Given the description of an element on the screen output the (x, y) to click on. 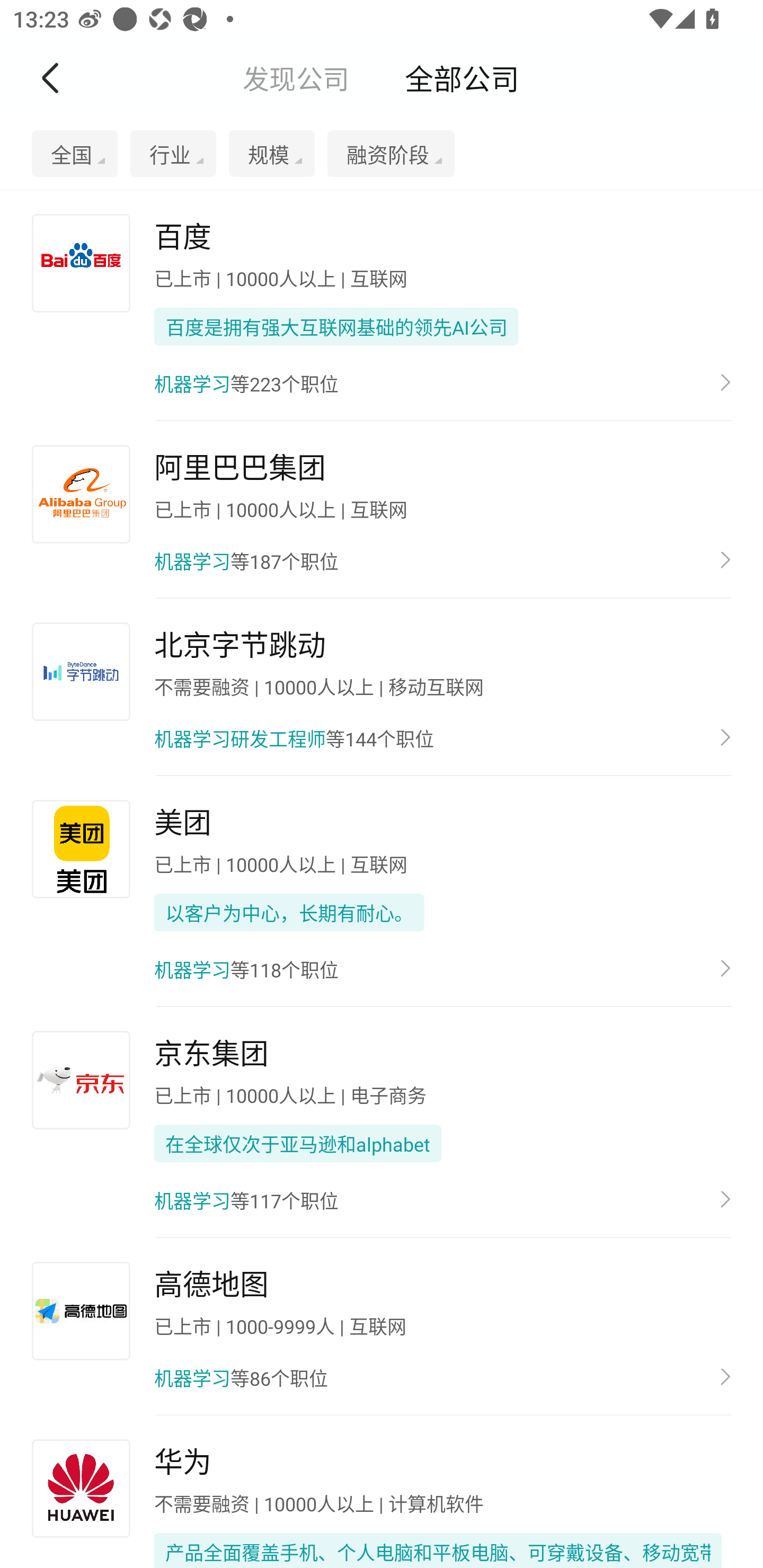
全部公司 (461, 77)
发现公司 (296, 77)
全国 (74, 153)
行业 (166, 153)
规模 (264, 153)
融资阶段 (384, 153)
机器学习等223个职位 (442, 382)
阿里巴巴集团 已上市 | 10000人以上 | 互联网 机器学习等187个职位 (381, 509)
机器学习等187个职位 (442, 561)
北京字节跳动 不需要融资 | 10000人以上 | 移动互联网 机器学习研发工程师等144个职位 (381, 687)
机器学习研发工程师等144个职位 (442, 738)
美团 已上市 | 10000人以上 | 互联网 以客户为中心，长期有耐心。 机器学习等118个职位 (381, 891)
机器学习等118个职位 (442, 968)
机器学习等117个职位 (442, 1199)
高德地图 已上市 | 1000-9999人 | 互联网 机器学习等86个职位 (381, 1326)
机器学习等86个职位 (442, 1378)
